Given the description of an element on the screen output the (x, y) to click on. 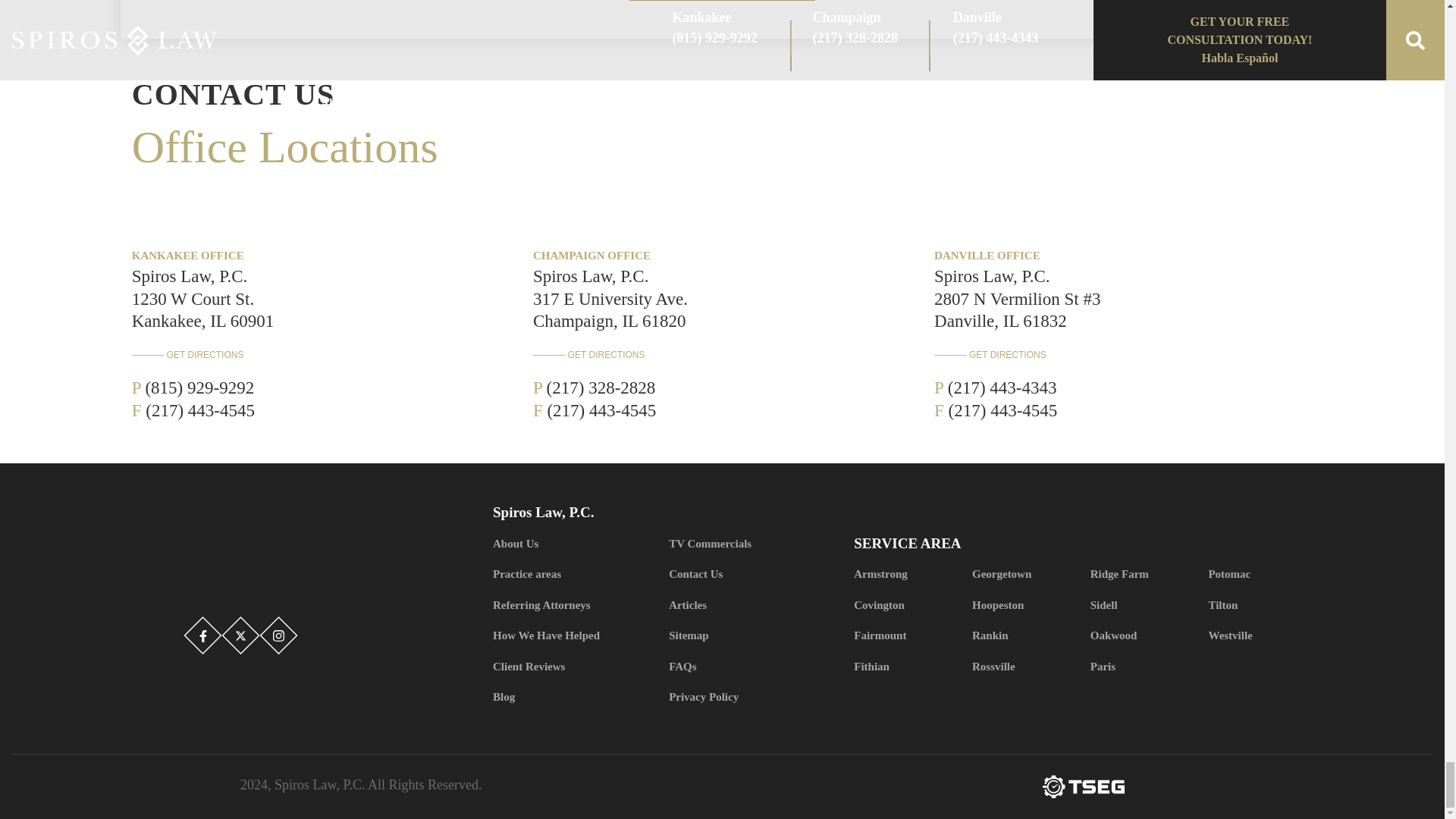
How We Have Helped (574, 635)
Referring Attorneys (574, 604)
Practice areas (574, 573)
About Us (574, 543)
